Given the description of an element on the screen output the (x, y) to click on. 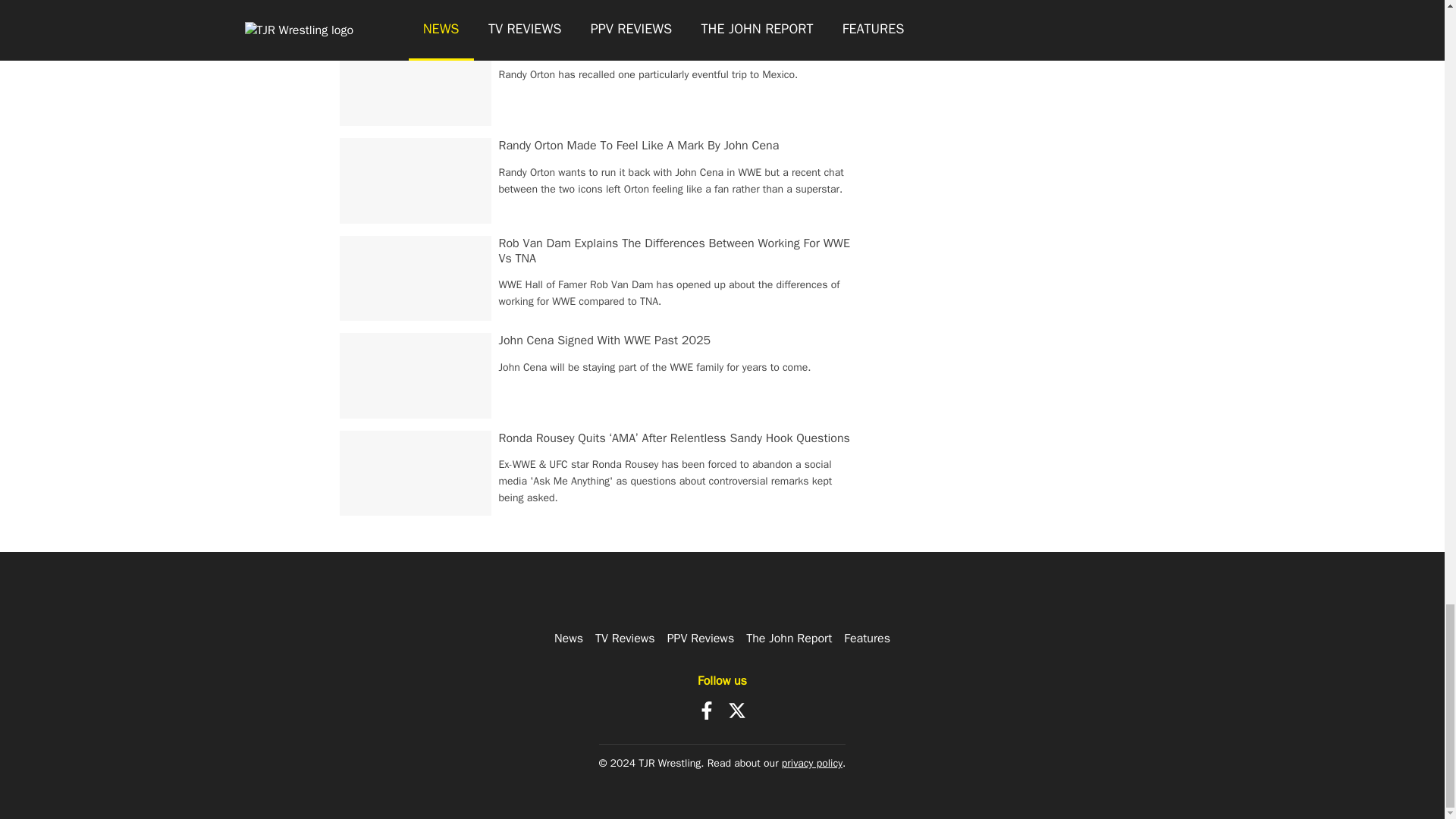
Randy Orton Made To Feel Like A Mark By John Cena (638, 145)
X (736, 710)
Randy Orton Followed By Federales After Dynamite Prank (649, 48)
Facebook (706, 710)
John Cena Signed With WWE Past 2025 (605, 340)
